Given the description of an element on the screen output the (x, y) to click on. 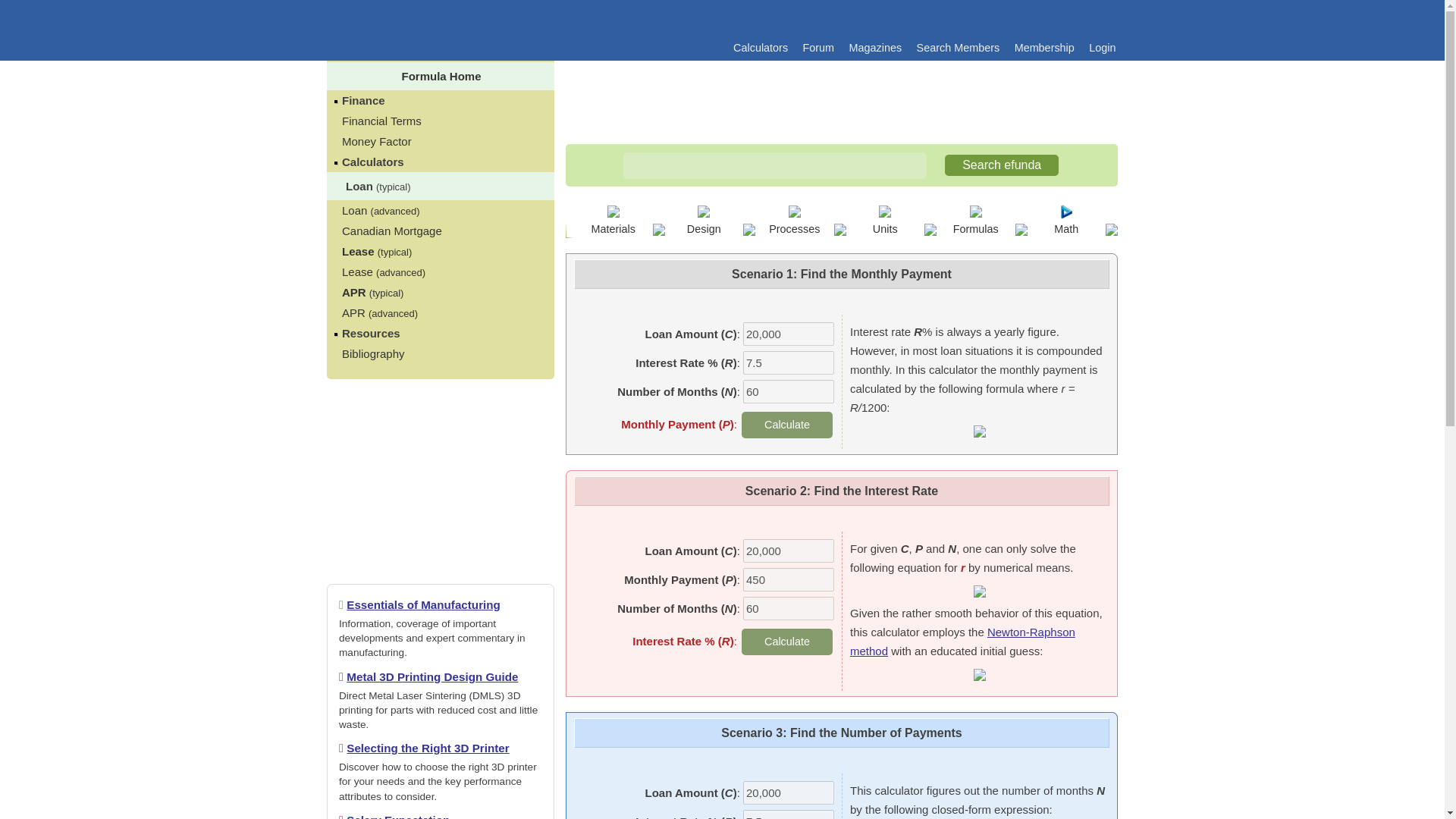
450 (788, 579)
Essentials of Manufacturing (423, 604)
Financial Terms (382, 120)
Search efunda (1001, 165)
Units (885, 228)
Salary Expectation (397, 816)
Search efunda (1001, 165)
Calculators (754, 47)
Metal 3D Printing Design Guide (432, 676)
Canadian Mortgage (392, 230)
Math (1066, 228)
Membership (1038, 47)
Bibliography (373, 353)
20,000 (788, 333)
Materials (612, 228)
